Given the description of an element on the screen output the (x, y) to click on. 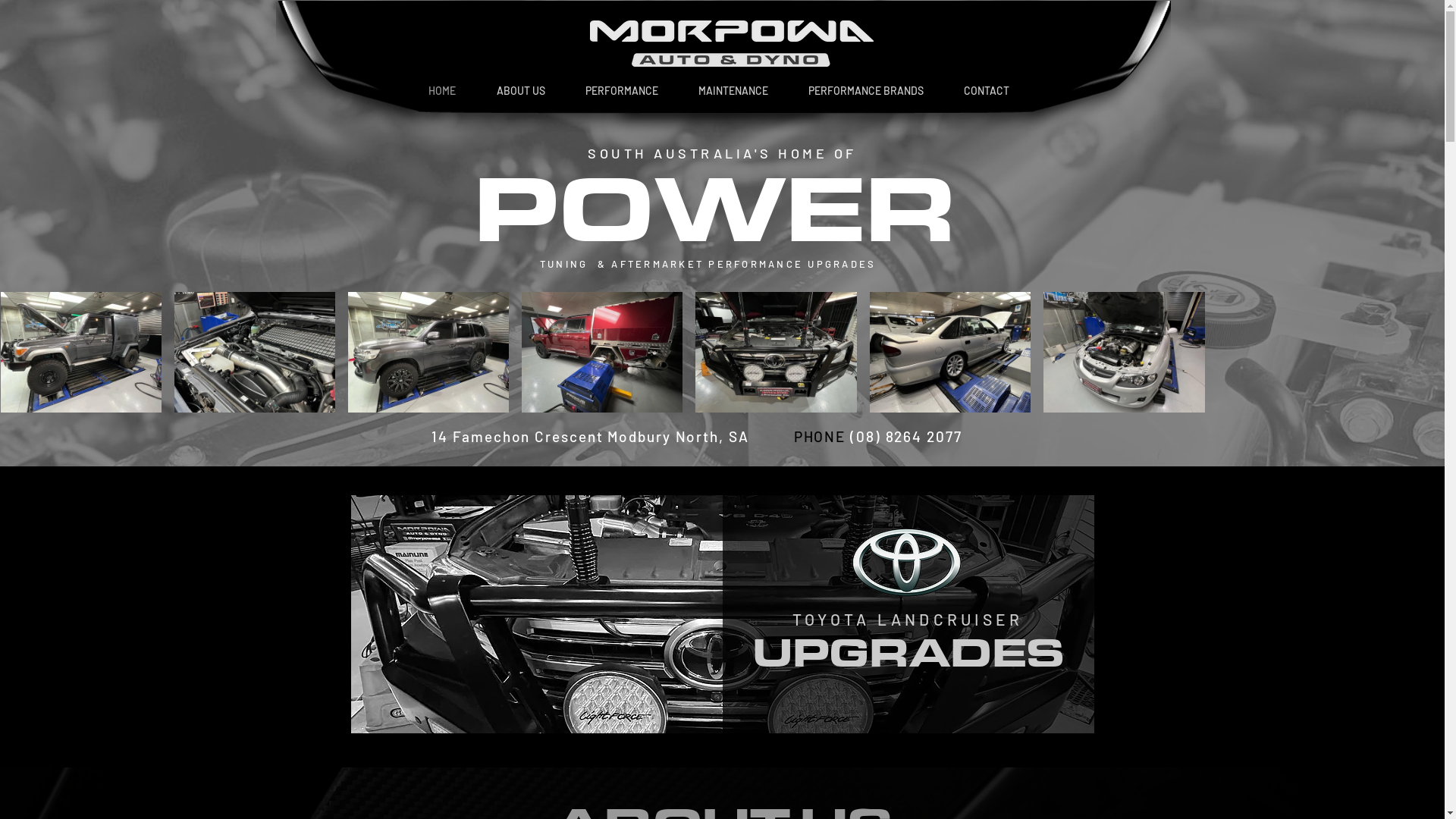
ABOUT US Element type: text (520, 90)
HOME Element type: text (441, 90)
MAINTENANCE Element type: text (732, 90)
PERFORMANCE Element type: text (621, 90)
PERFORMANCE BRANDS Element type: text (866, 90)
CONTACT Element type: text (986, 90)
